Given the description of an element on the screen output the (x, y) to click on. 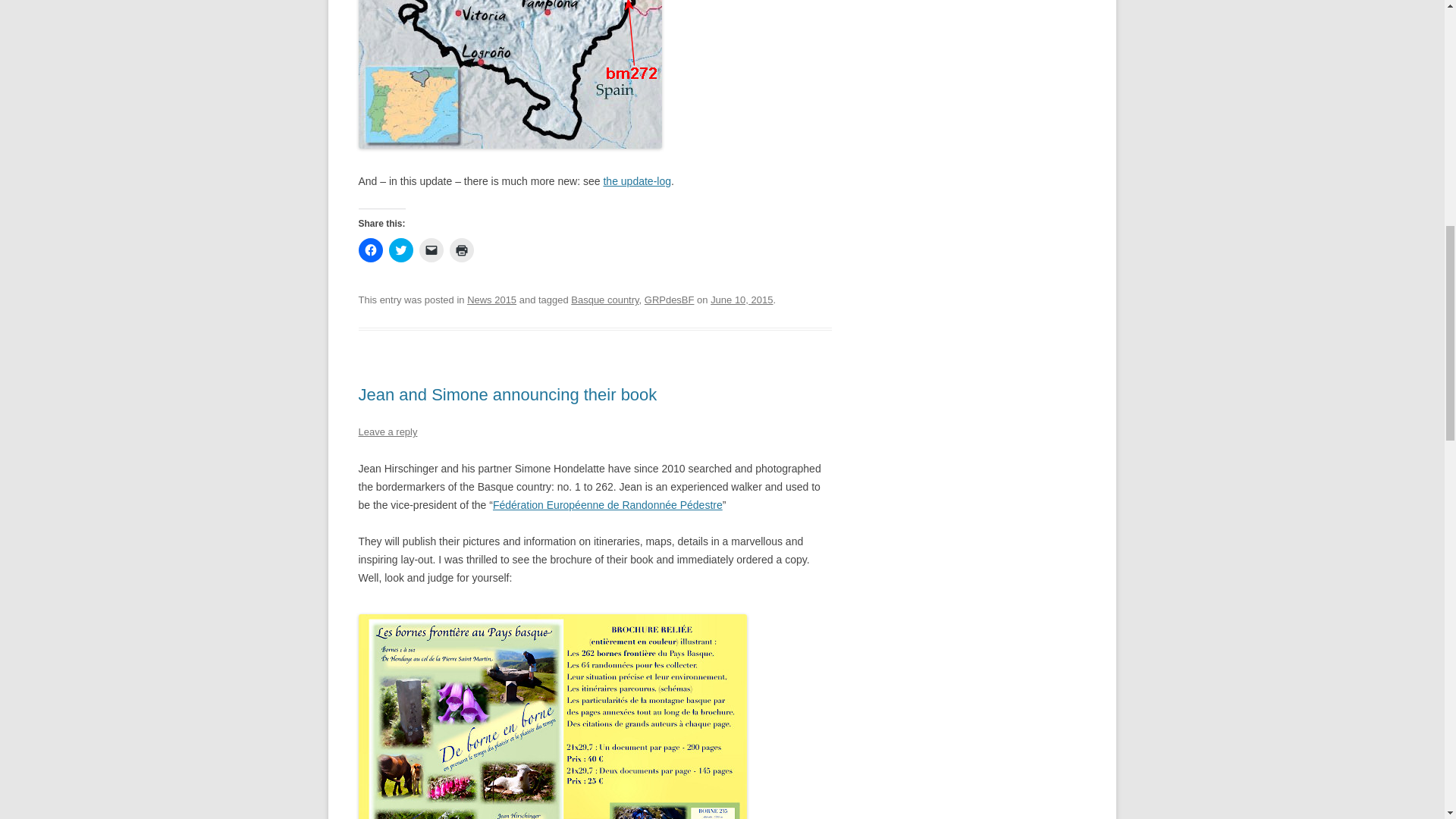
GRPdesBF (669, 299)
Click to share on Twitter (400, 250)
21:45 (741, 299)
Click to share on Facebook (369, 250)
News 2015 (491, 299)
Click to email a link to a friend (430, 250)
the update-log (636, 181)
Jean and Simone announcing their book (507, 394)
Click to print (460, 250)
Basque country (604, 299)
